Given the description of an element on the screen output the (x, y) to click on. 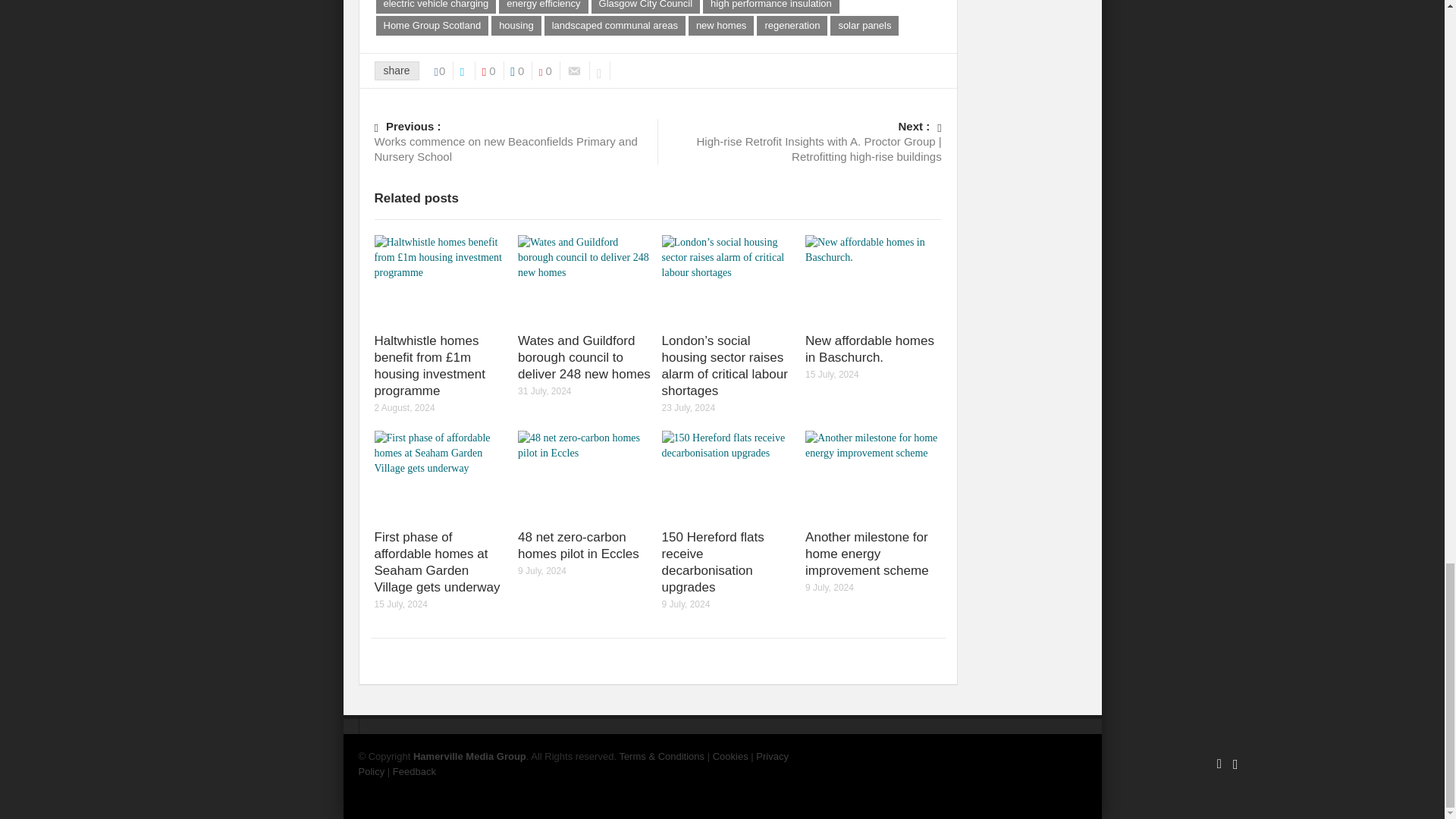
Home Group Scotland (432, 25)
solar panels (863, 25)
energy efficiency (543, 6)
landscaped communal areas (614, 25)
housing (516, 25)
Glasgow City Council (645, 6)
high performance insulation (771, 6)
regeneration (792, 25)
electric vehicle charging (435, 6)
new homes (721, 25)
